Given the description of an element on the screen output the (x, y) to click on. 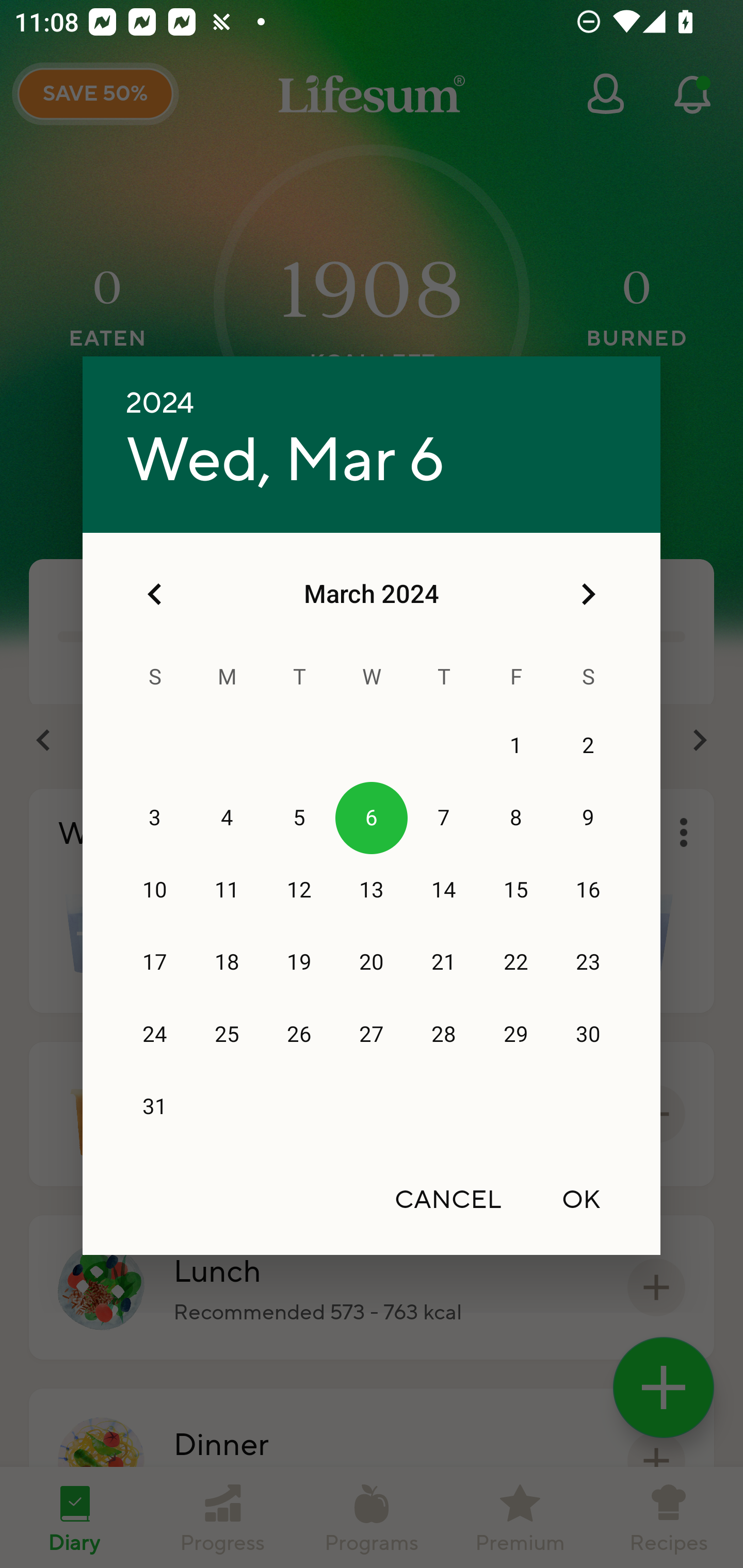
2024 (159, 403)
Wed, Mar 6 (285, 460)
Previous month (154, 594)
Next month (587, 594)
1 01 March 2024 (515, 746)
2 02 March 2024 (588, 746)
3 03 March 2024 (154, 818)
4 04 March 2024 (226, 818)
5 05 March 2024 (299, 818)
6 06 March 2024 (371, 818)
7 07 March 2024 (443, 818)
8 08 March 2024 (515, 818)
9 09 March 2024 (588, 818)
10 10 March 2024 (154, 890)
11 11 March 2024 (226, 890)
12 12 March 2024 (299, 890)
13 13 March 2024 (371, 890)
14 14 March 2024 (443, 890)
15 15 March 2024 (515, 890)
16 16 March 2024 (588, 890)
17 17 March 2024 (154, 962)
18 18 March 2024 (226, 962)
19 19 March 2024 (299, 962)
20 20 March 2024 (371, 962)
21 21 March 2024 (443, 962)
22 22 March 2024 (515, 962)
23 23 March 2024 (588, 962)
24 24 March 2024 (154, 1034)
25 25 March 2024 (226, 1034)
26 26 March 2024 (299, 1034)
27 27 March 2024 (371, 1034)
28 28 March 2024 (443, 1034)
29 29 March 2024 (515, 1034)
30 30 March 2024 (588, 1034)
31 31 March 2024 (154, 1106)
CANCEL (447, 1199)
OK (580, 1199)
